Given the description of an element on the screen output the (x, y) to click on. 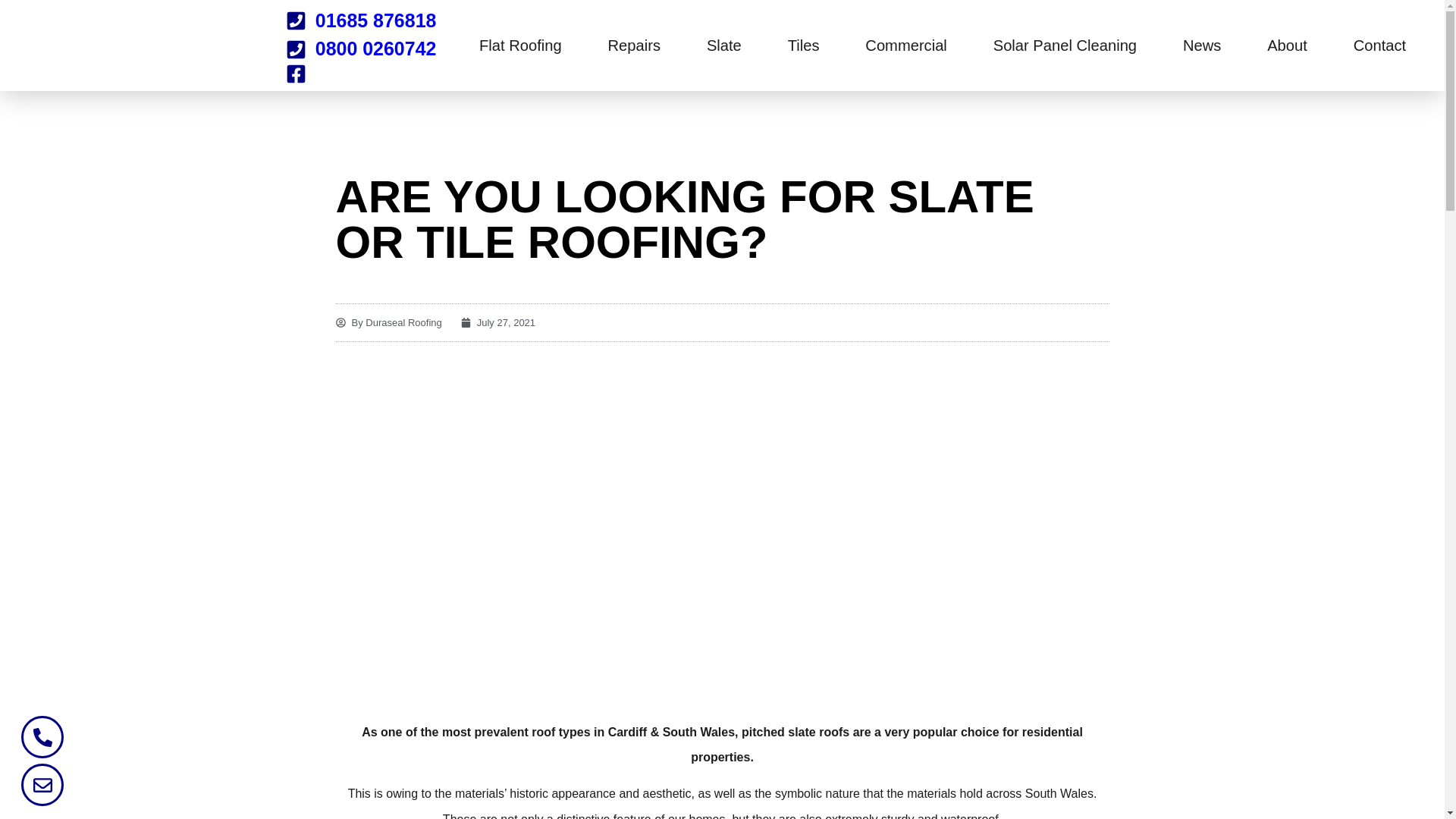
Solar Panel Cleaning (1064, 45)
Repairs (633, 45)
Commercial (906, 45)
Contact (1379, 45)
News (1201, 45)
Flat Roofing (521, 45)
Slate (723, 45)
Tiles (803, 45)
0800 0260742 (360, 49)
